Given the description of an element on the screen output the (x, y) to click on. 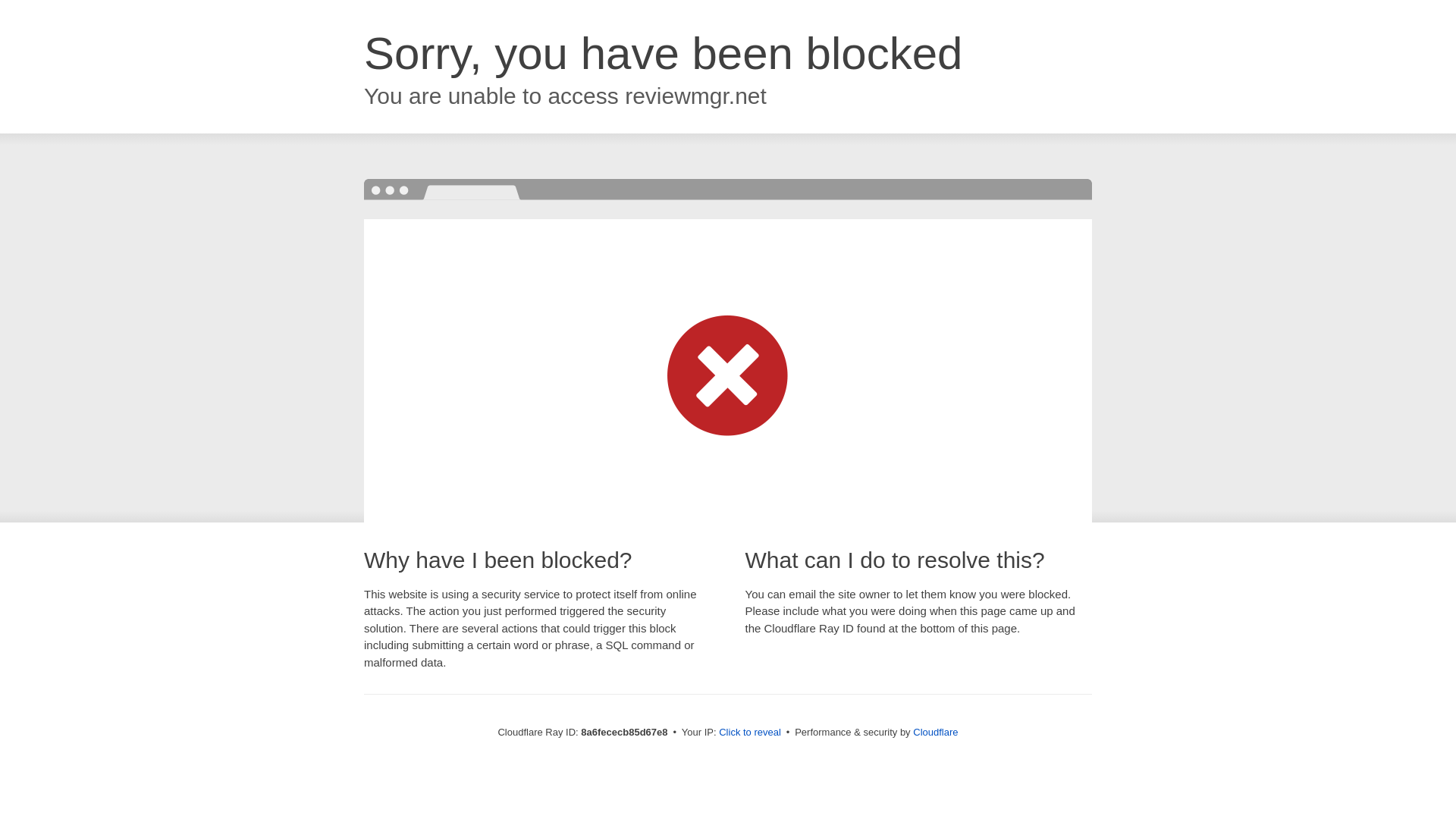
Cloudflare (935, 731)
Click to reveal (749, 732)
